Given the description of an element on the screen output the (x, y) to click on. 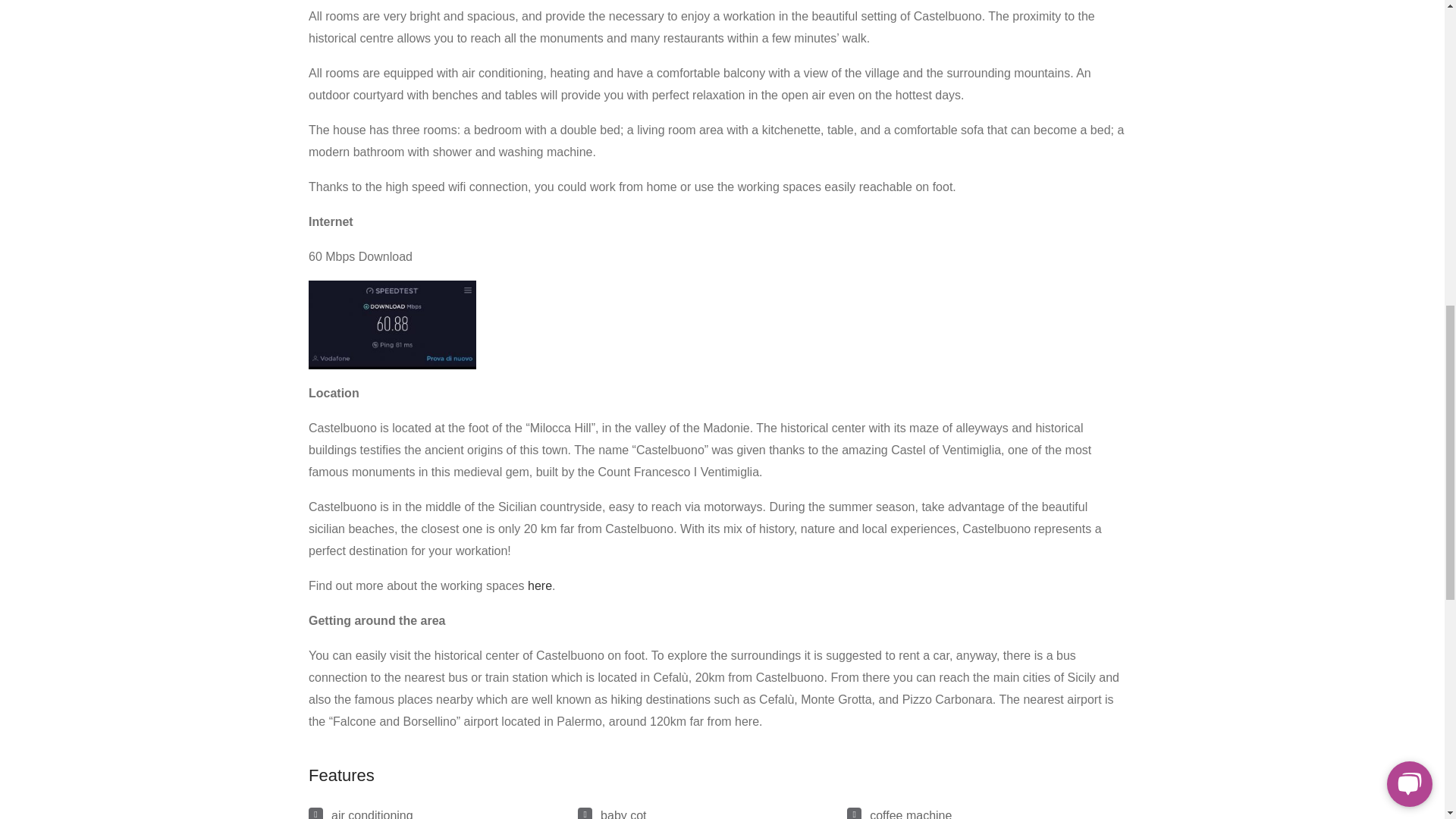
air conditioning (372, 814)
here (539, 585)
coffee machine (910, 814)
baby cot (622, 814)
